Given the description of an element on the screen output the (x, y) to click on. 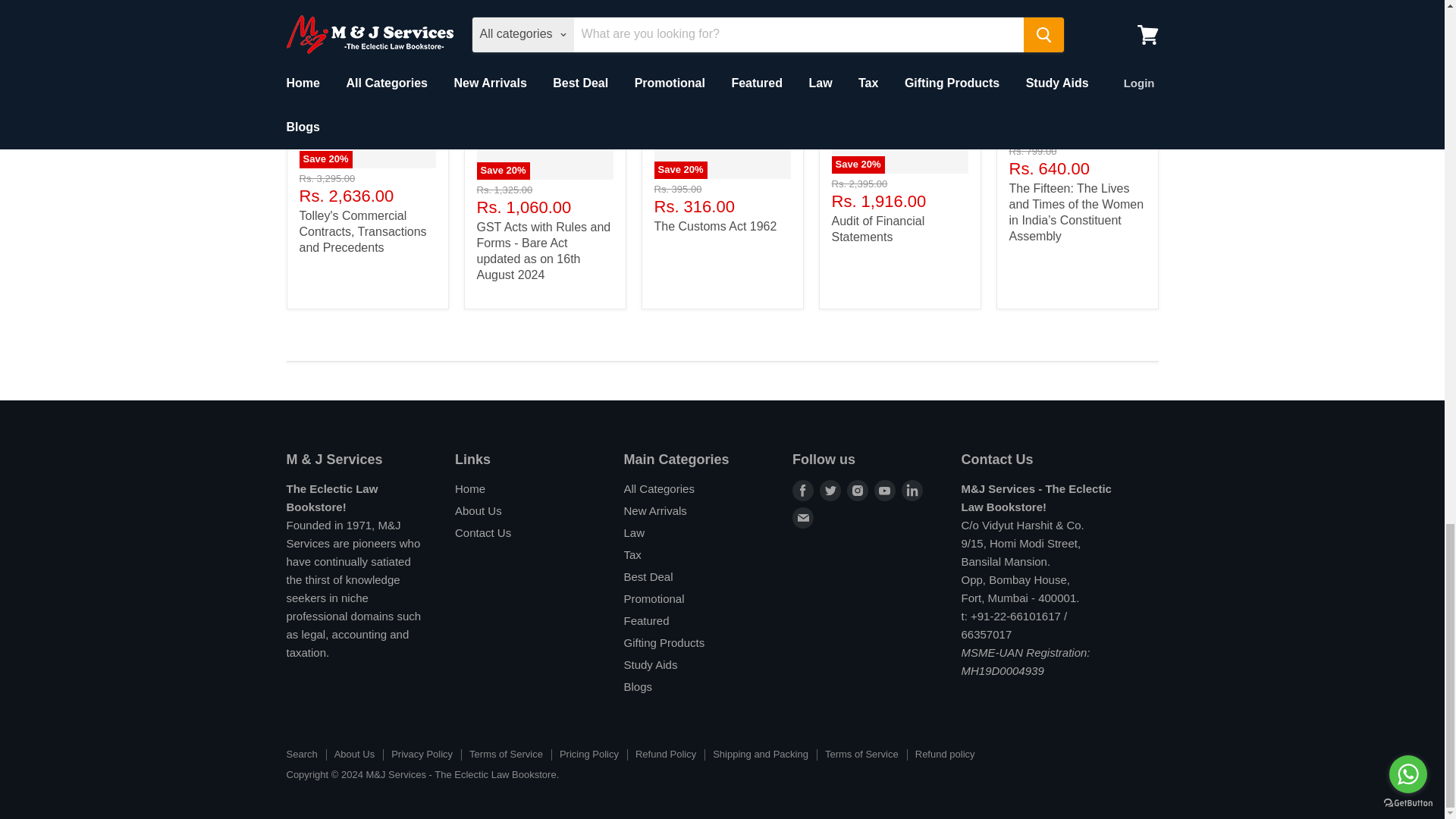
LinkedIn (912, 490)
E-mail (802, 517)
Facebook (802, 490)
Twitter (830, 490)
Instagram (857, 490)
Youtube (884, 490)
